Given the description of an element on the screen output the (x, y) to click on. 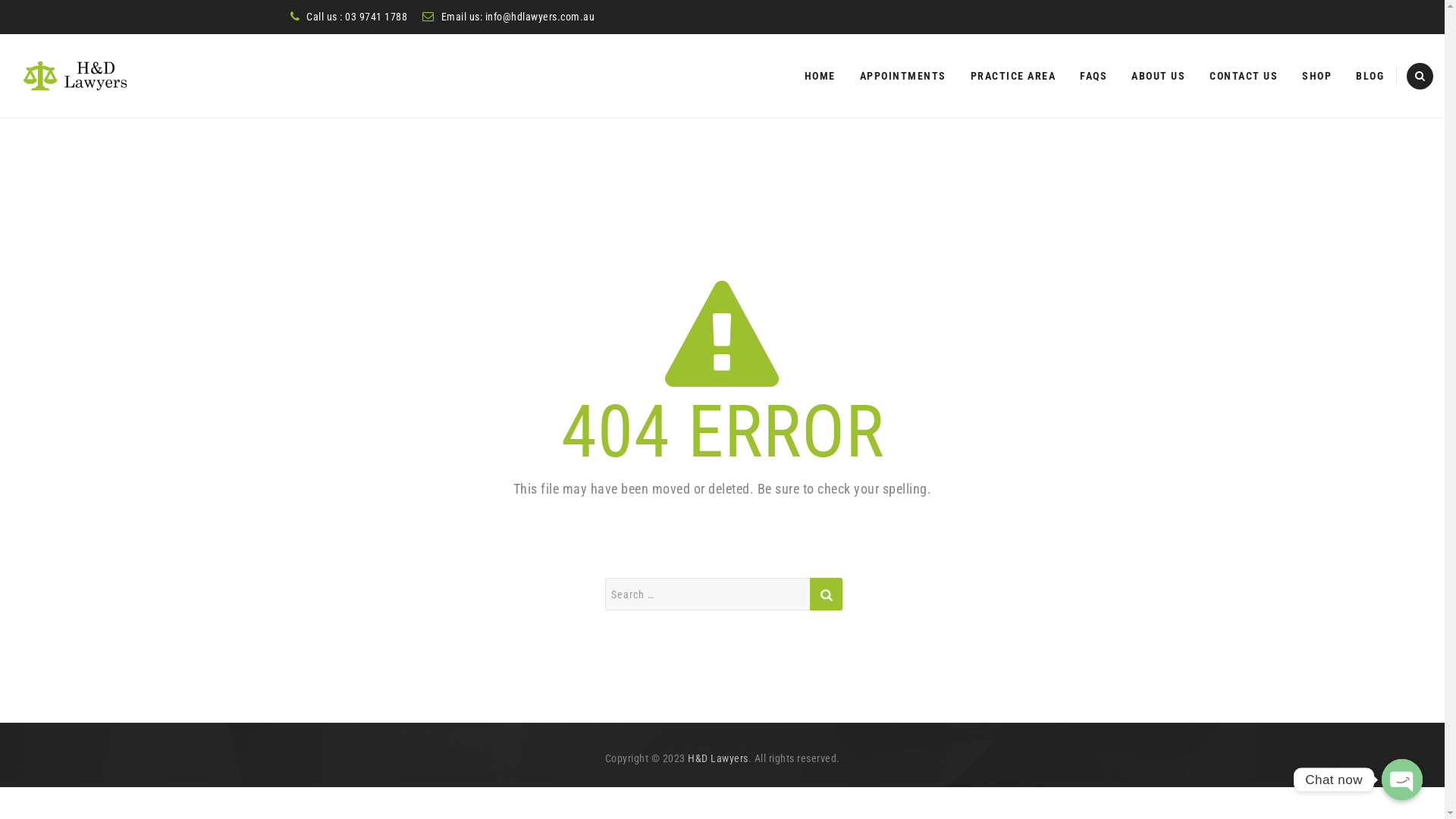
SHOP Element type: text (1316, 75)
Search Element type: text (825, 593)
APPOINTMENTS Element type: text (902, 75)
info@hdlawyers.com.au Element type: text (540, 16)
FAQS Element type: text (1093, 75)
H&D Lawyers Element type: text (717, 758)
HOME Element type: text (818, 75)
CONTACT US Element type: text (1243, 75)
ABOUT US Element type: text (1158, 75)
PRACTICE AREA Element type: text (1013, 75)
Skip to content Element type: text (791, 33)
HD Lawyers Element type: hover (76, 75)
BLOG Element type: text (1369, 75)
